Given the description of an element on the screen output the (x, y) to click on. 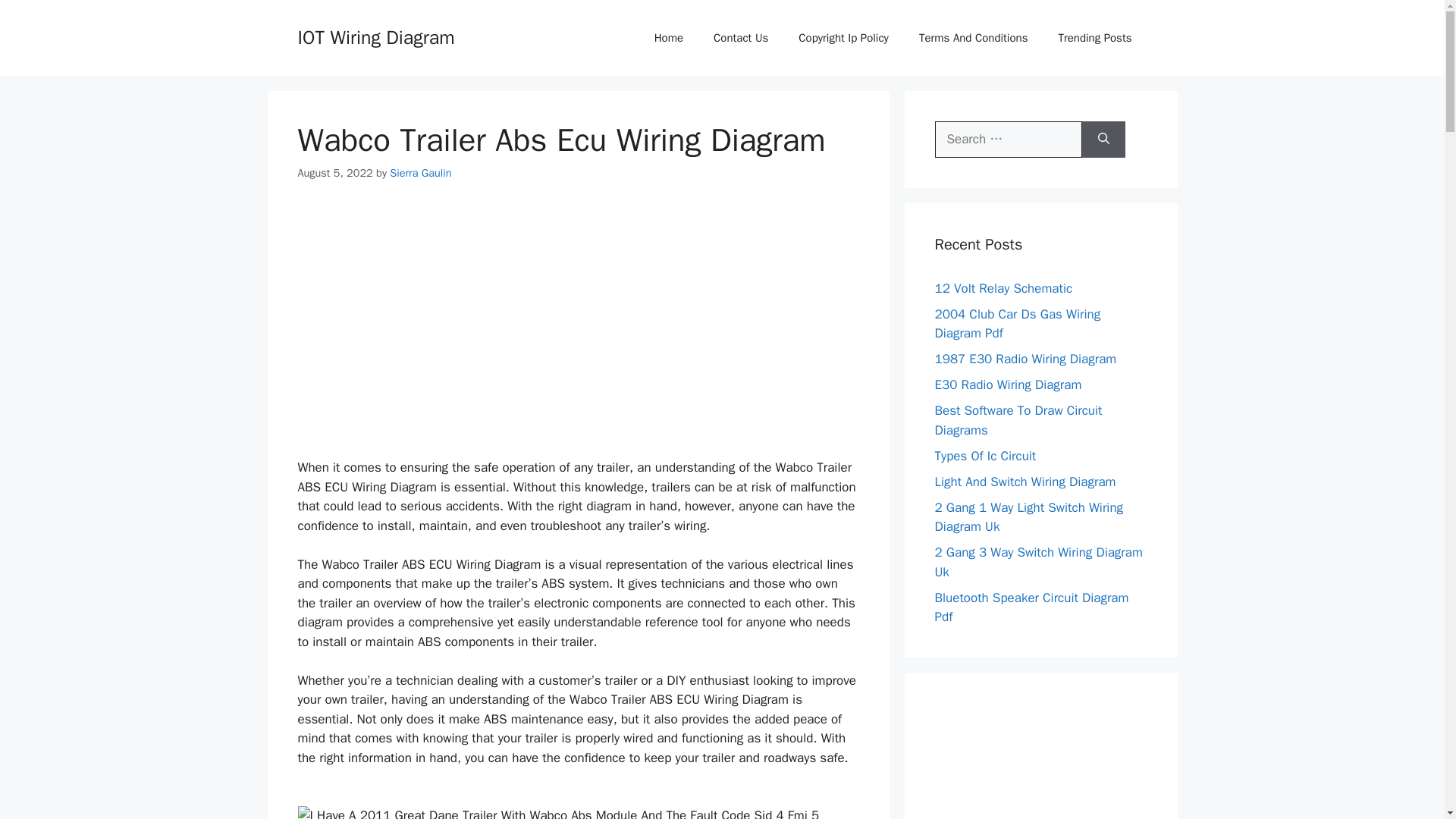
E30 Radio Wiring Diagram (1007, 384)
2 Gang 3 Way Switch Wiring Diagram Uk (1037, 561)
IOT Wiring Diagram (375, 37)
Copyright Ip Policy (843, 37)
Home (668, 37)
Advertisement (578, 313)
Terms And Conditions (973, 37)
Types Of Ic Circuit (984, 455)
2 Gang 1 Way Light Switch Wiring Diagram Uk (1028, 516)
View all posts by Sierra Gaulin (420, 172)
Sierra Gaulin (420, 172)
Contact Us (740, 37)
1987 E30 Radio Wiring Diagram (1025, 358)
Bluetooth Speaker Circuit Diagram Pdf (1031, 607)
